Given the description of an element on the screen output the (x, y) to click on. 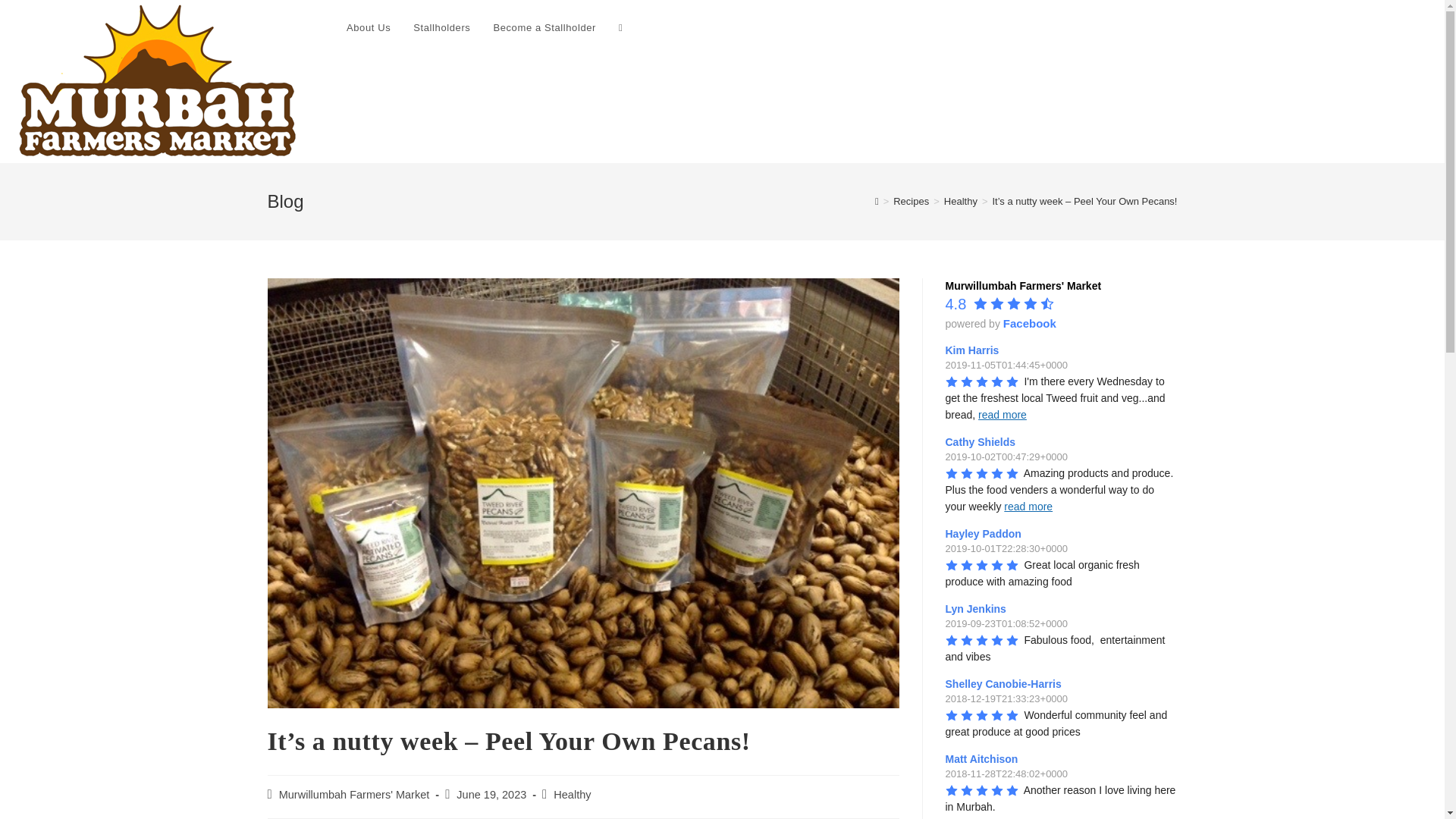
Matt Aitchison (983, 758)
Lyn Jenkins (977, 608)
Healthy (959, 201)
Hayley Paddon (984, 533)
Become a Stallholder (544, 28)
Kim Harris (973, 349)
About Us (367, 28)
Murwillumbah Farmers' Market (1022, 285)
Healthy (572, 794)
Posts by Murwillumbah Farmers' Market (354, 794)
